Given the description of an element on the screen output the (x, y) to click on. 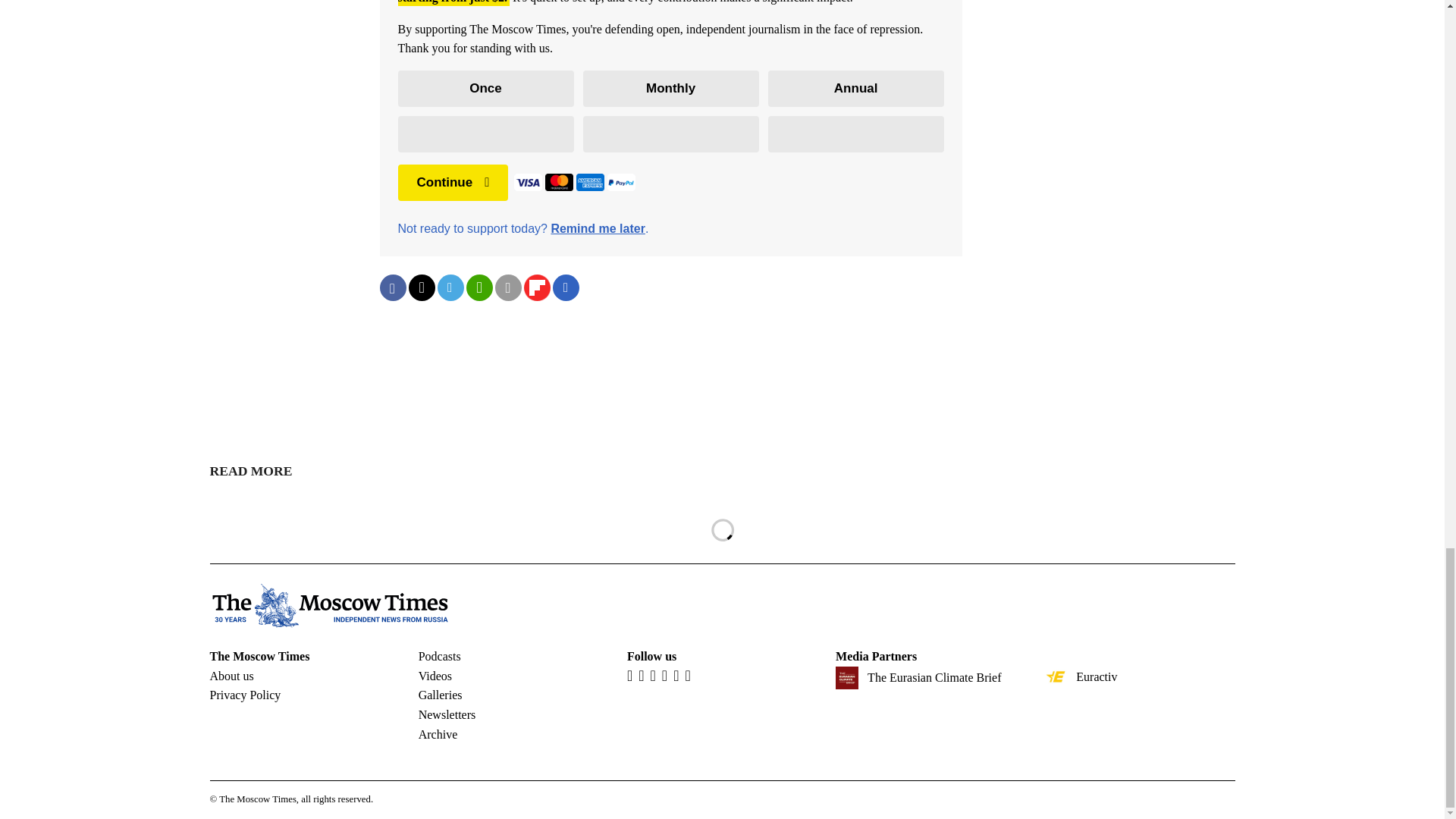
Share on Flipboard (536, 287)
Share on Twitter (420, 287)
Share on Telegram (449, 287)
Share on Facebook (392, 287)
